Given the description of an element on the screen output the (x, y) to click on. 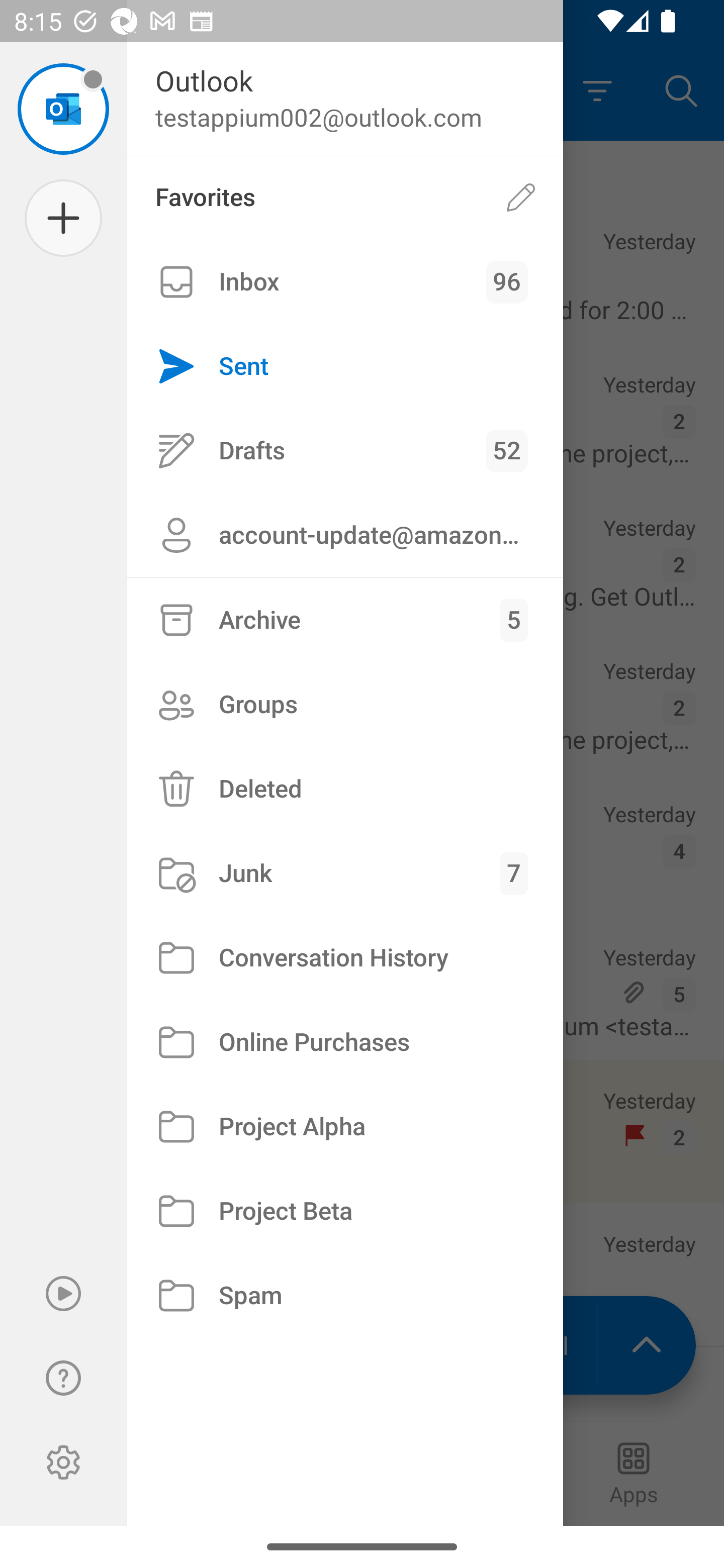
Edit favorites (520, 197)
Add account (63, 217)
Inbox Inbox, 96 unread emails (345, 281)
Sent Sent,Selected (345, 366)
Drafts Drafts, 52 unread emails (345, 450)
account-update@amazon.com (345, 534)
Archive Archive, 2 of 10, level 1, 5 unread emails (345, 619)
Groups Groups, 3 of 10, level 1 (345, 703)
Deleted Deleted, 4 of 10, level 1 (345, 788)
Junk Junk, 5 of 10, level 1, 7 unread emails (345, 873)
Project Alpha Project Alpha, 8 of 10, level 1 (345, 1127)
Project Beta Project Beta, 9 of 10, level 1 (345, 1210)
Play My Emails (62, 1293)
Spam Spam, 10 of 10, level 1 (345, 1294)
Help (62, 1377)
Settings (62, 1462)
